Given the description of an element on the screen output the (x, y) to click on. 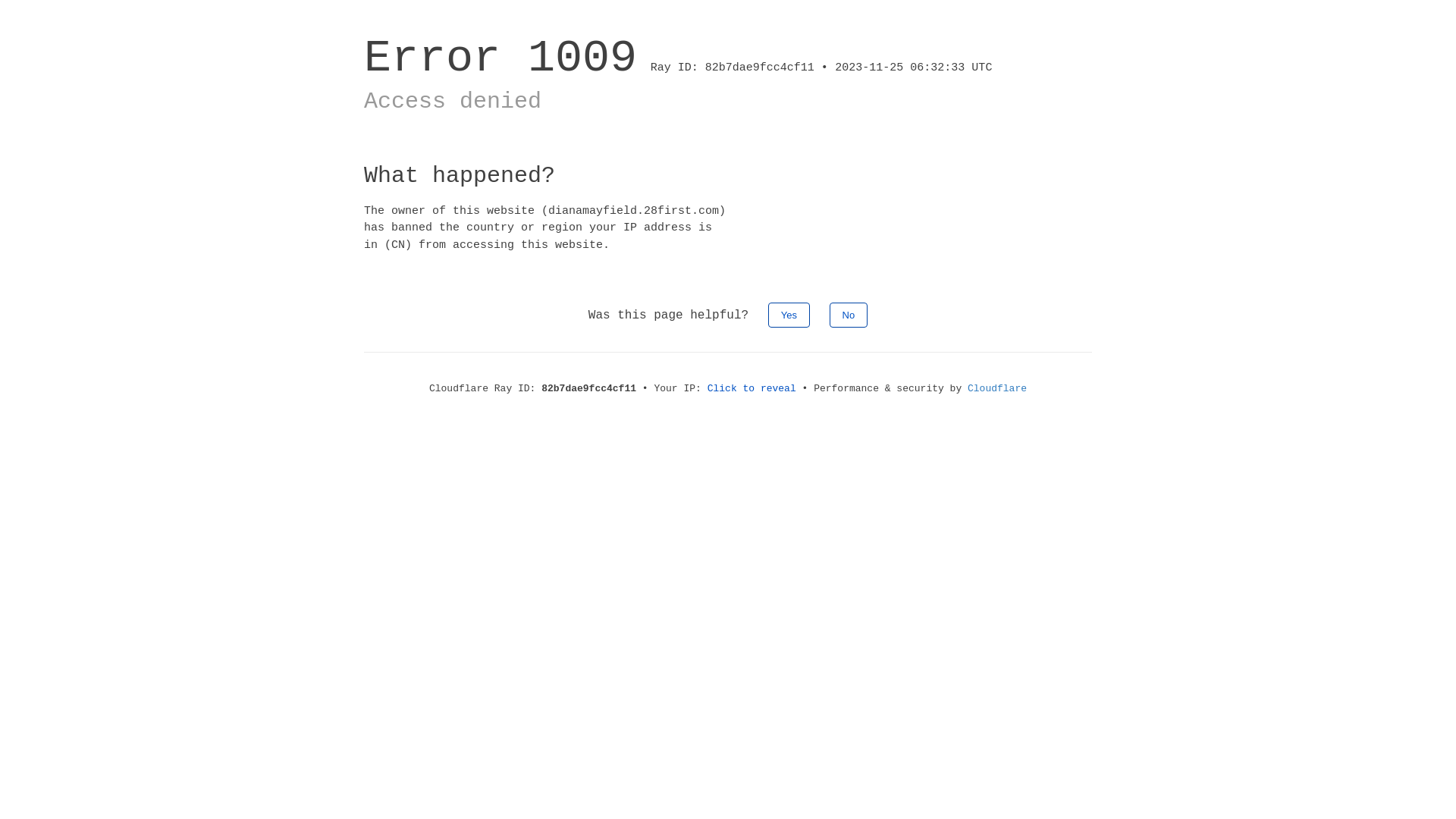
Click to reveal Element type: text (751, 388)
Cloudflare Element type: text (996, 388)
No Element type: text (848, 314)
Yes Element type: text (788, 314)
